Given the description of an element on the screen output the (x, y) to click on. 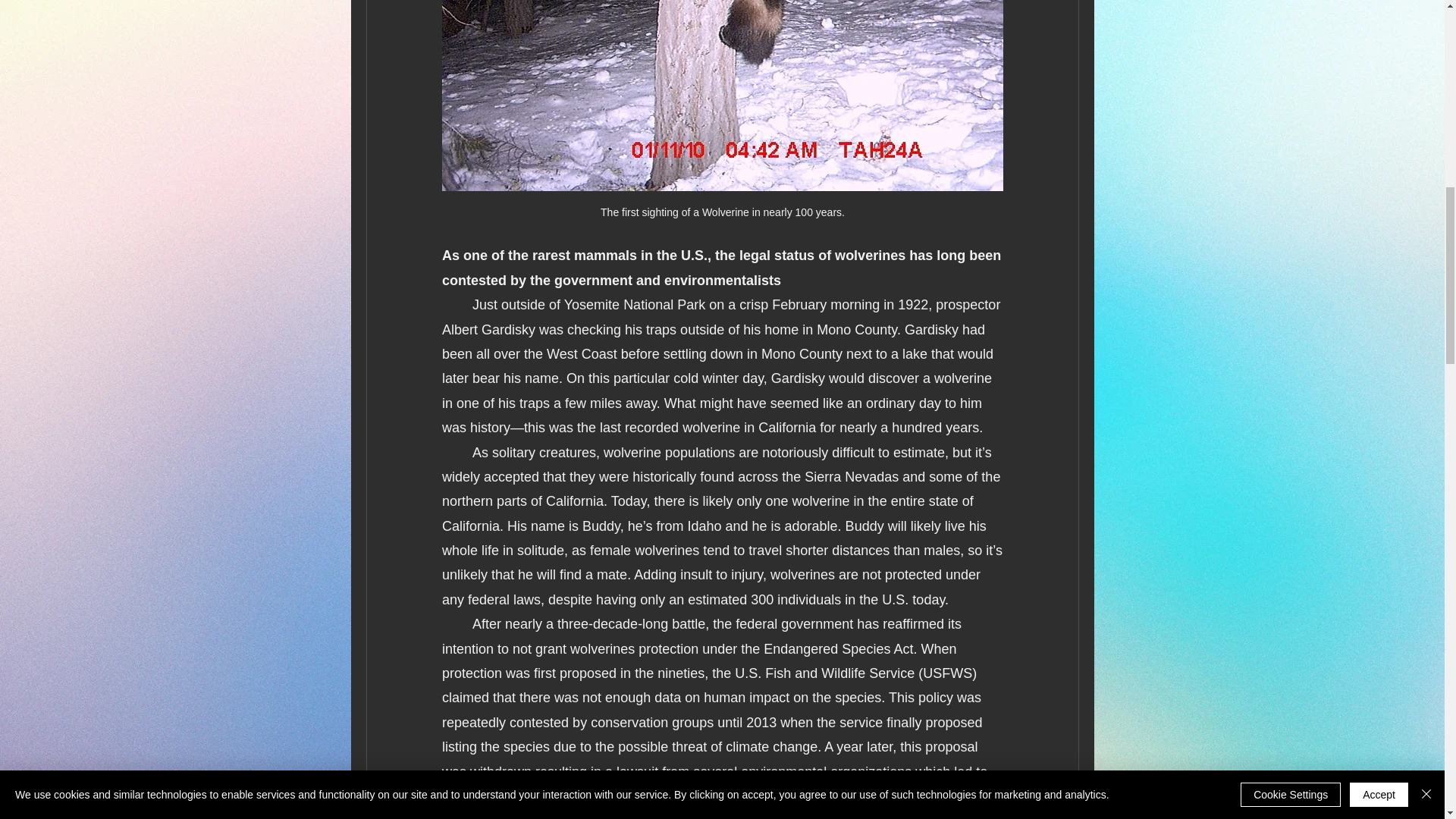
withdrawn again last month (722, 803)
The first sighting of a Wolverine in nearly 100 years. (722, 117)
